Given the description of an element on the screen output the (x, y) to click on. 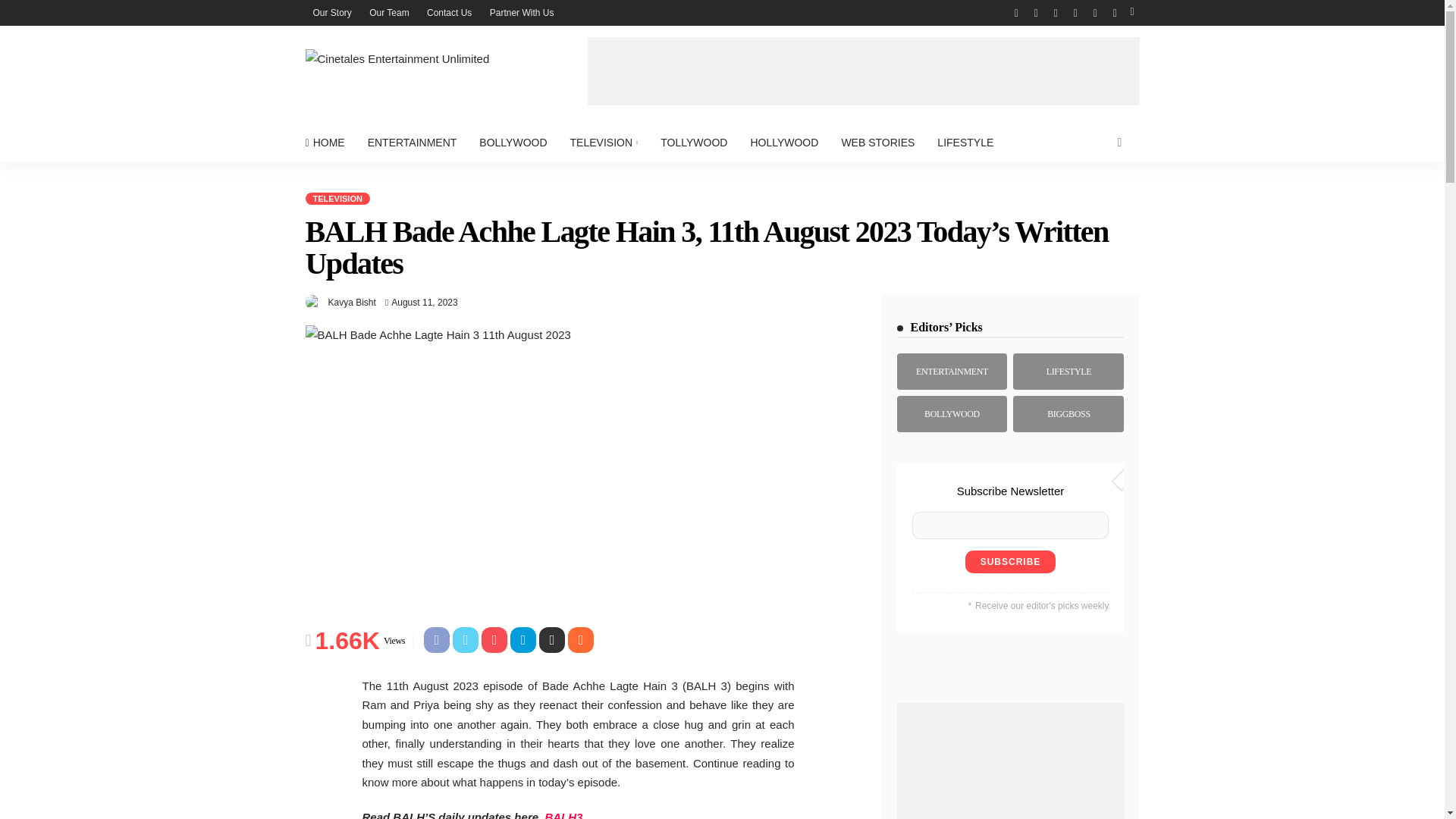
Contact Us (449, 12)
TOLLYWOOD (693, 142)
ENTERTAINMENT (412, 142)
Partner With Us (521, 12)
BOLLYWOOD (512, 142)
Our Team (388, 12)
HOME (329, 142)
HOLLYWOOD (783, 142)
TELEVISION (604, 142)
WEB STORIES (877, 142)
Our Story (331, 12)
Subscribe (1011, 561)
